Given the description of an element on the screen output the (x, y) to click on. 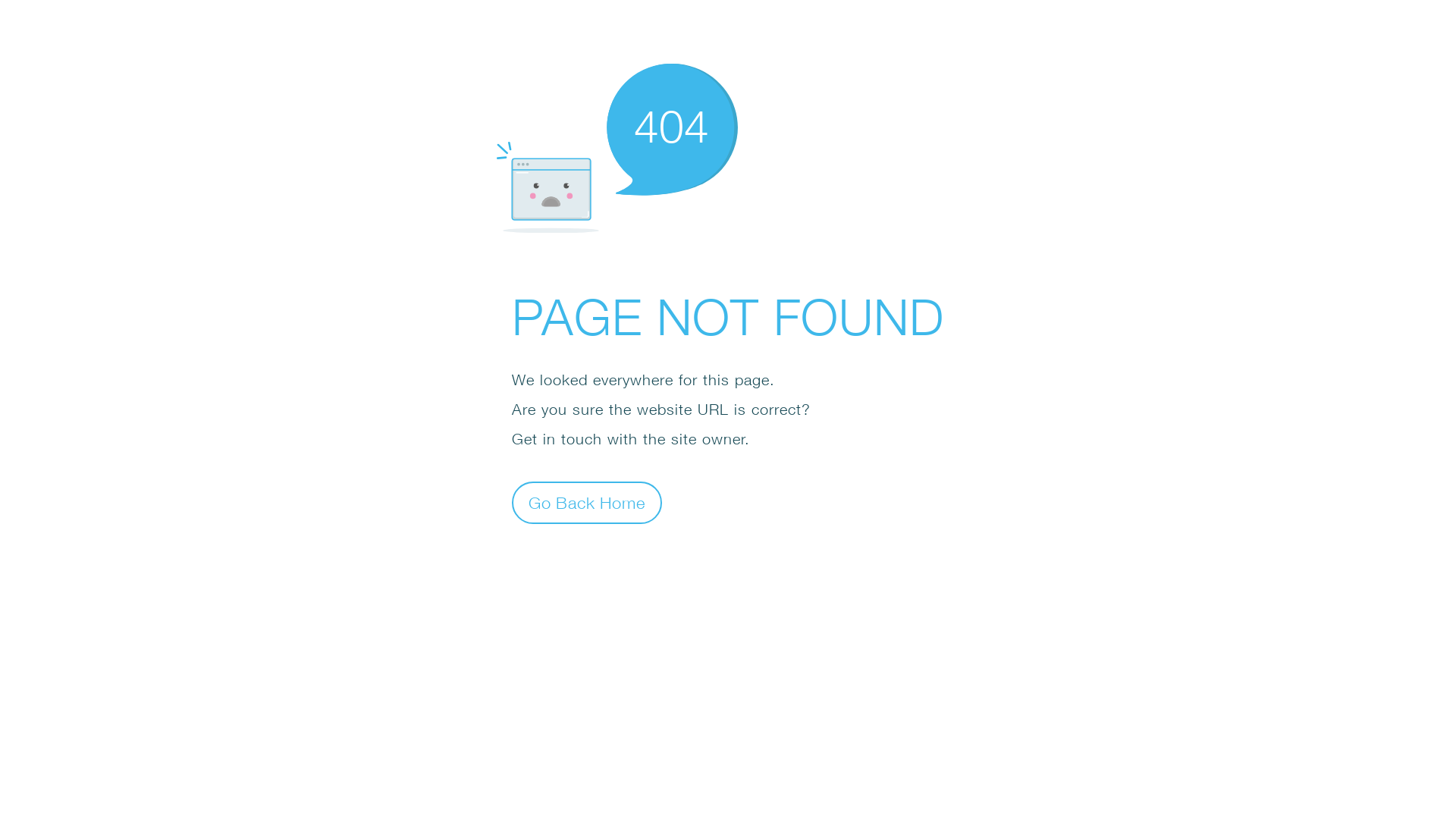
Go Back Home Element type: text (586, 502)
